Given the description of an element on the screen output the (x, y) to click on. 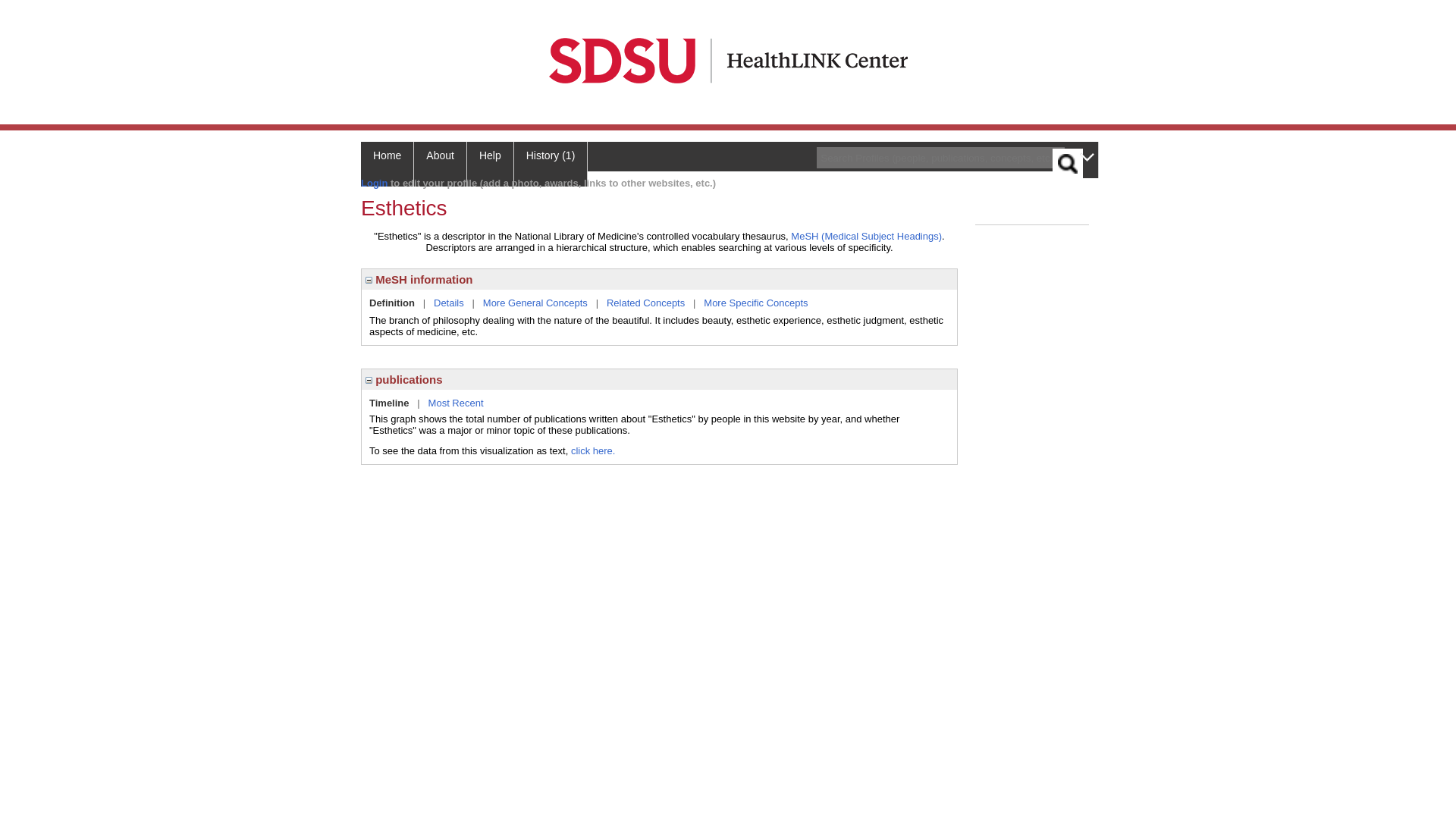
Definition (391, 302)
Help (490, 163)
Details (448, 302)
Home (387, 163)
More Specific Concepts (755, 302)
Login (374, 183)
Related Concepts (645, 302)
About (440, 163)
More General Concepts (535, 302)
